Given the description of an element on the screen output the (x, y) to click on. 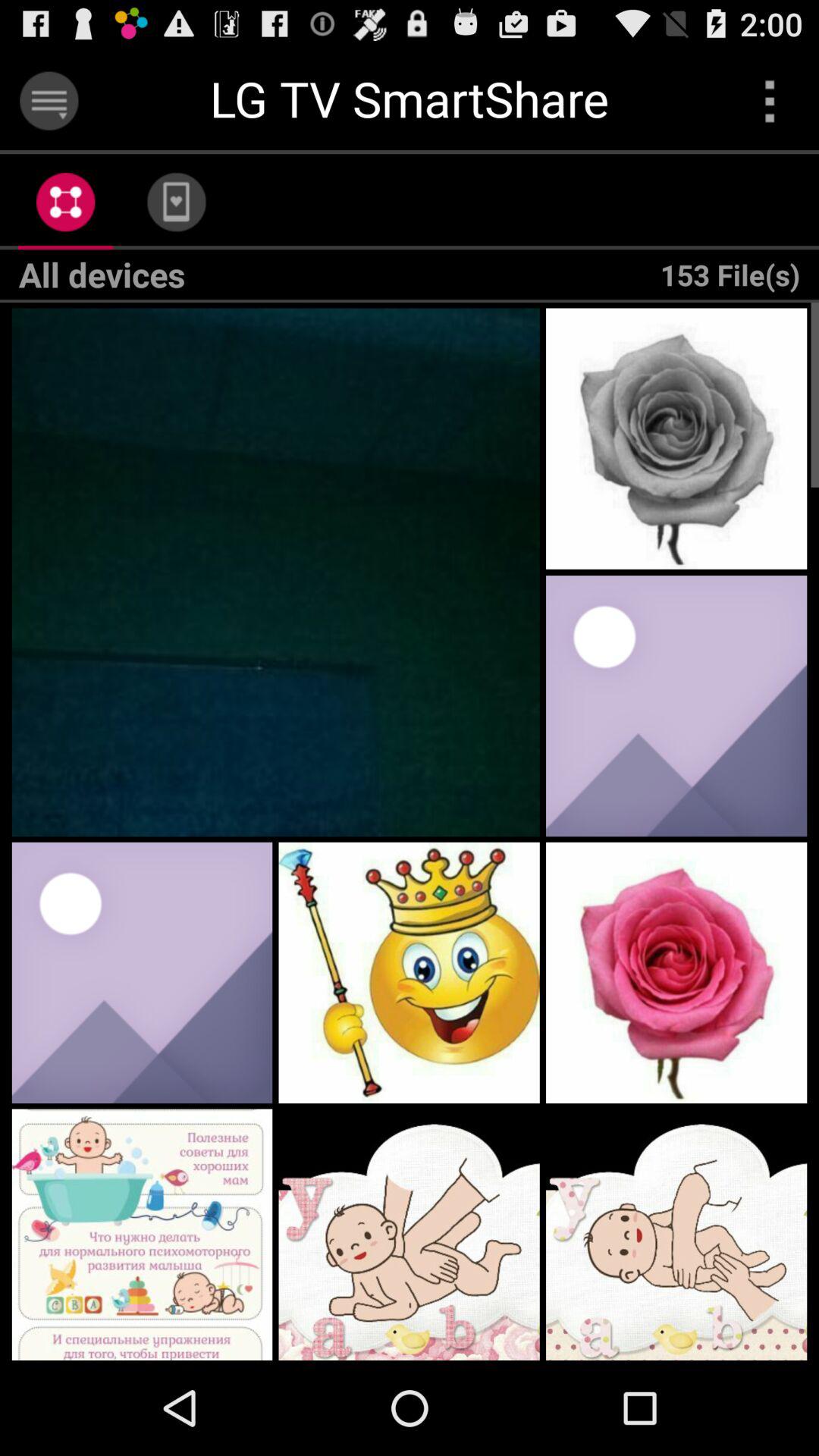
open settings menu (48, 100)
